Given the description of an element on the screen output the (x, y) to click on. 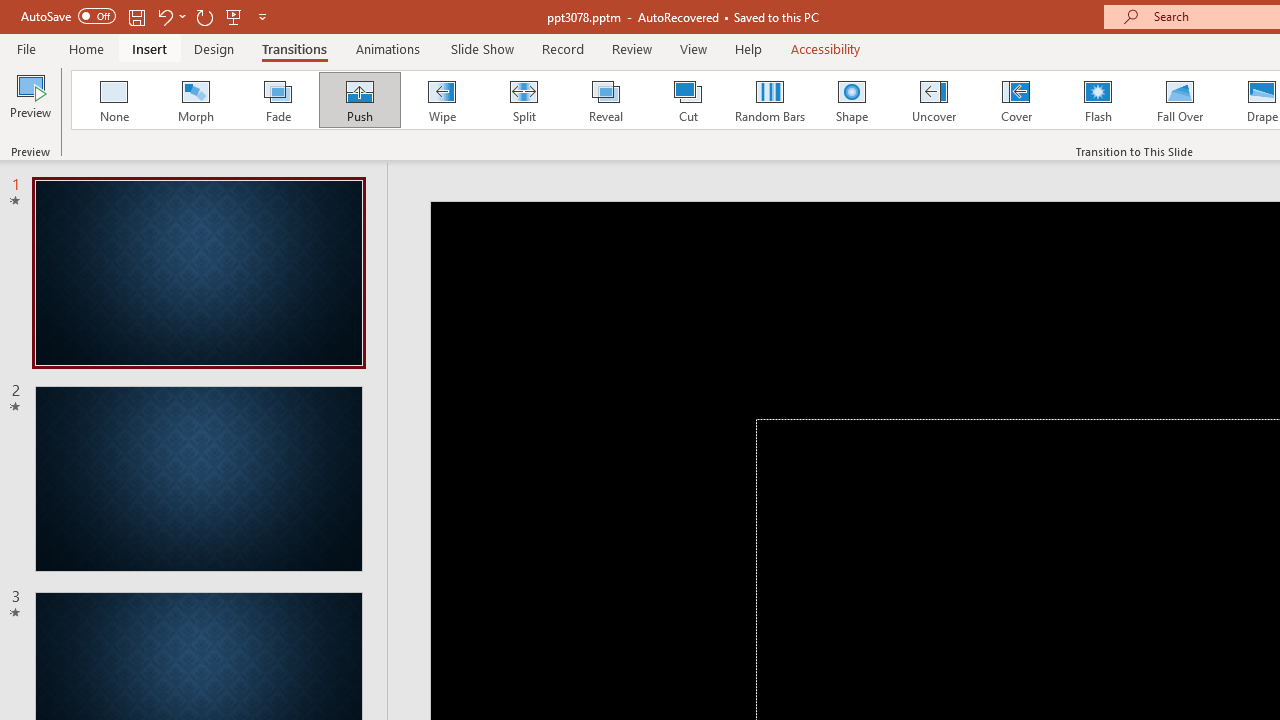
Split (523, 100)
Push (359, 100)
Cover (1016, 100)
Random Bars (770, 100)
Fall Over (1180, 100)
